Given the description of an element on the screen output the (x, y) to click on. 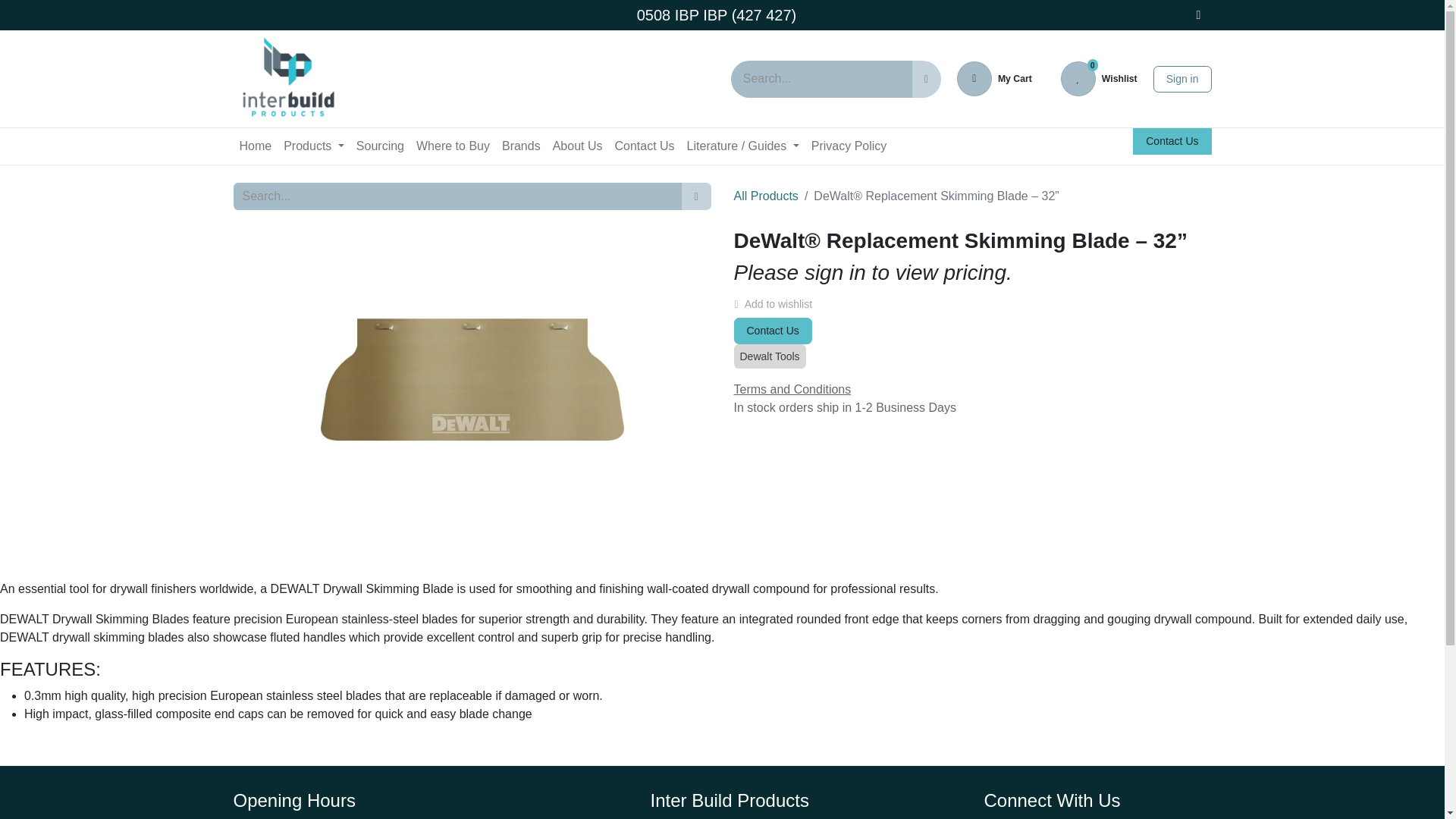
Home (255, 146)
Inter Build Products (287, 78)
Sign in (1099, 78)
Products (1182, 78)
My Cart (314, 146)
